Given the description of an element on the screen output the (x, y) to click on. 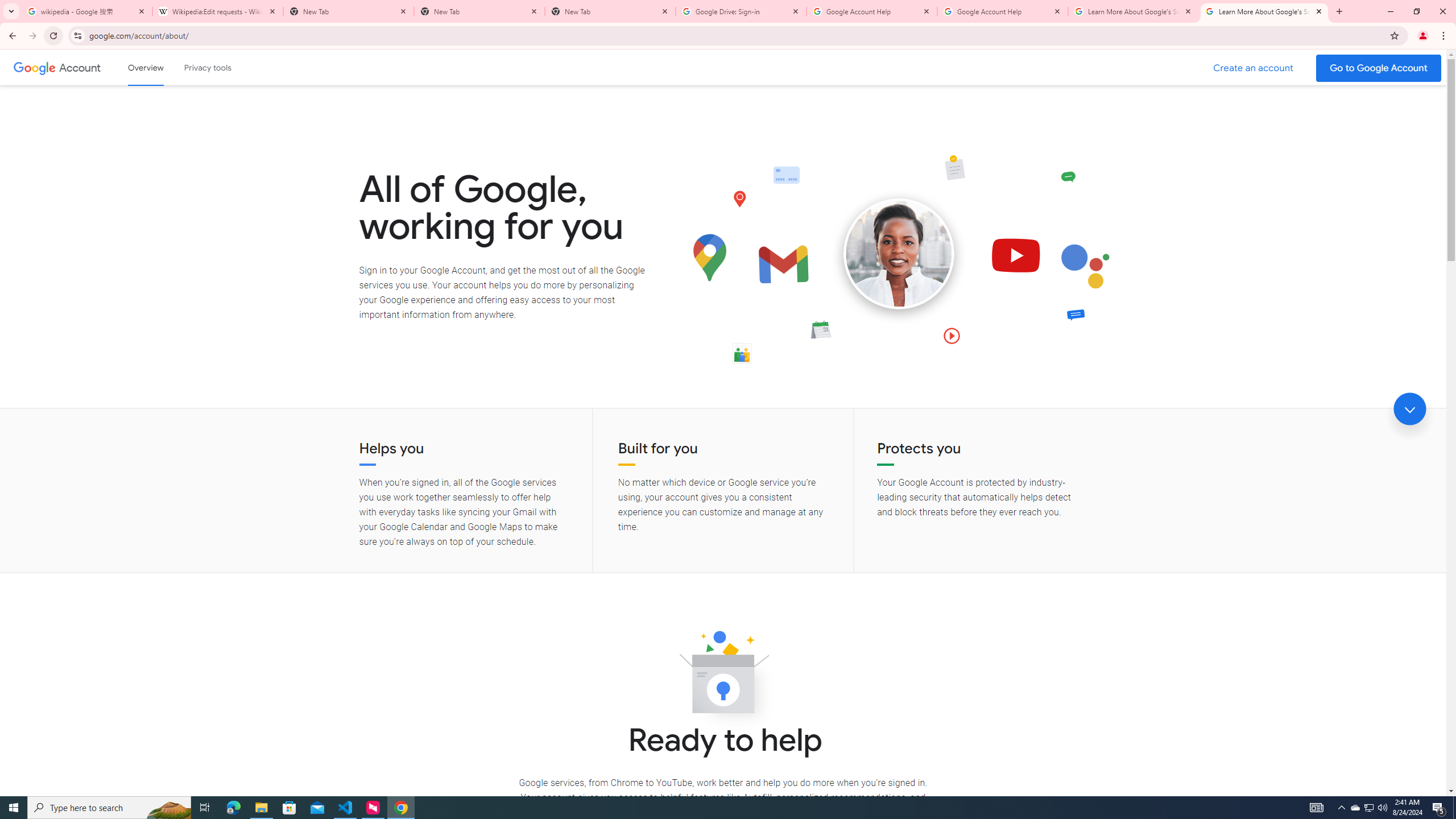
Skip to Content (162, 65)
Google Account Help (1002, 11)
